Given the description of an element on the screen output the (x, y) to click on. 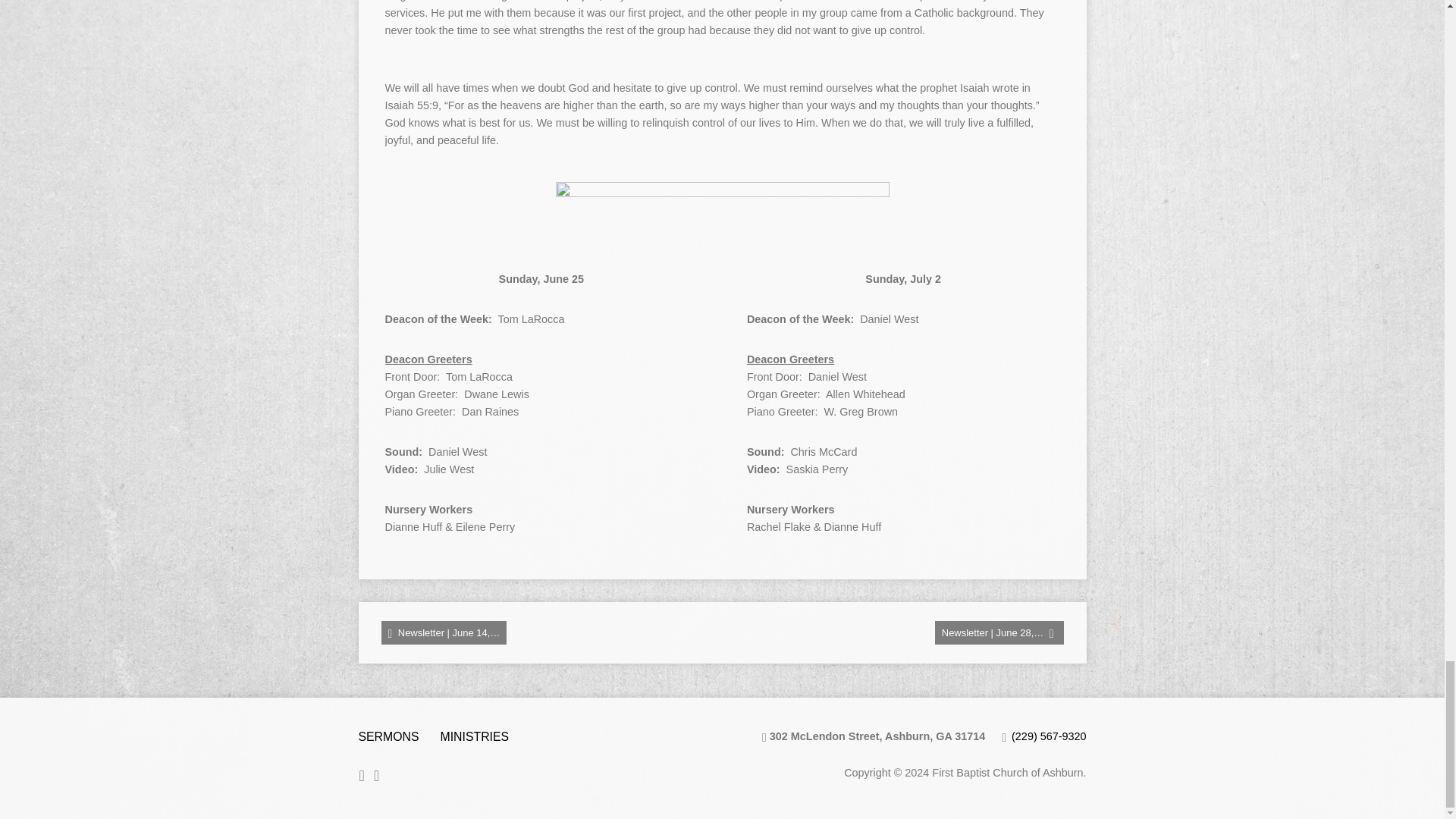
Facebook (362, 775)
Instagram (376, 775)
